Given the description of an element on the screen output the (x, y) to click on. 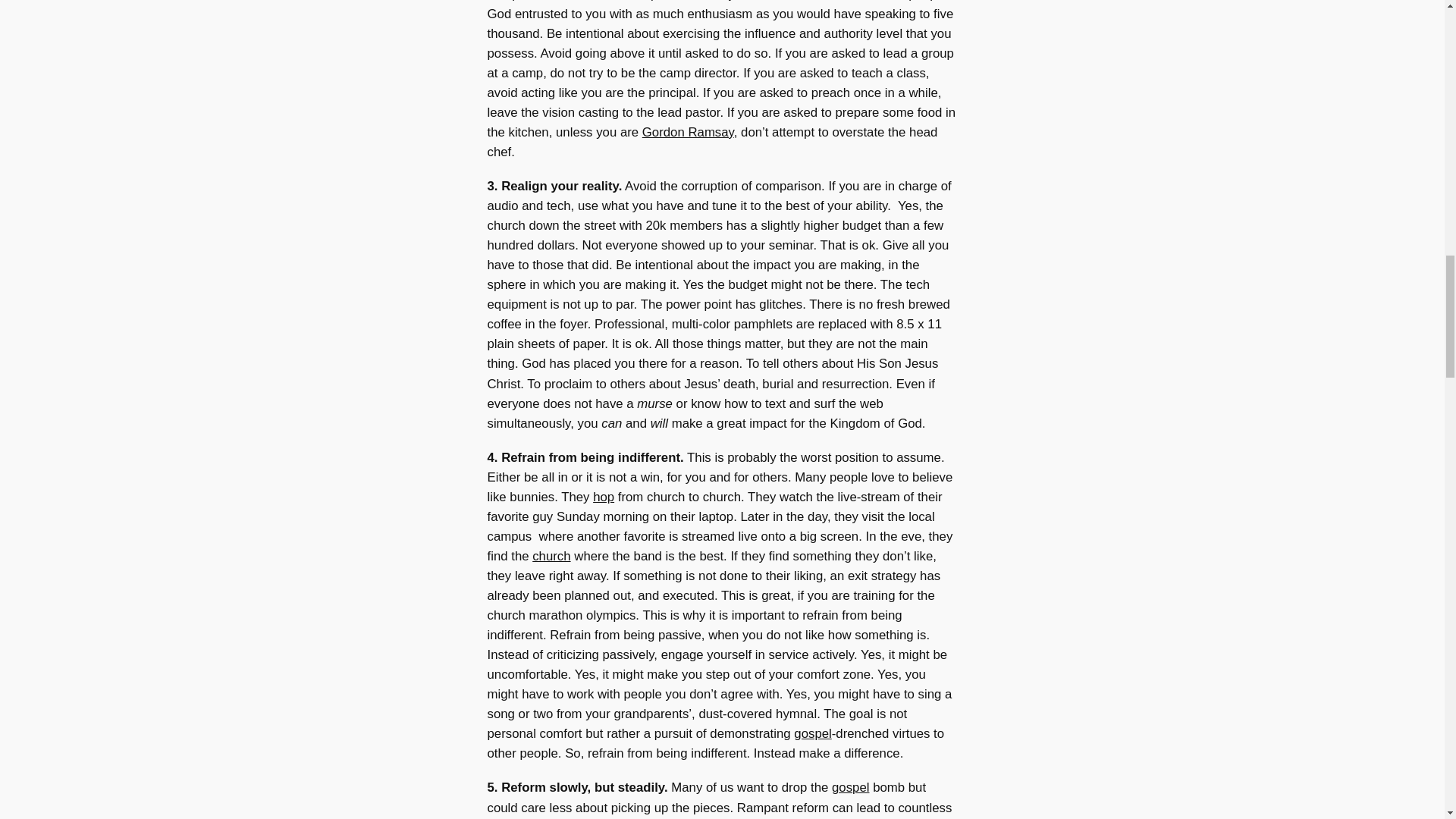
church (551, 555)
gospel (850, 787)
gospel (812, 733)
Gordon Ramsay (687, 132)
hop (603, 496)
